Given the description of an element on the screen output the (x, y) to click on. 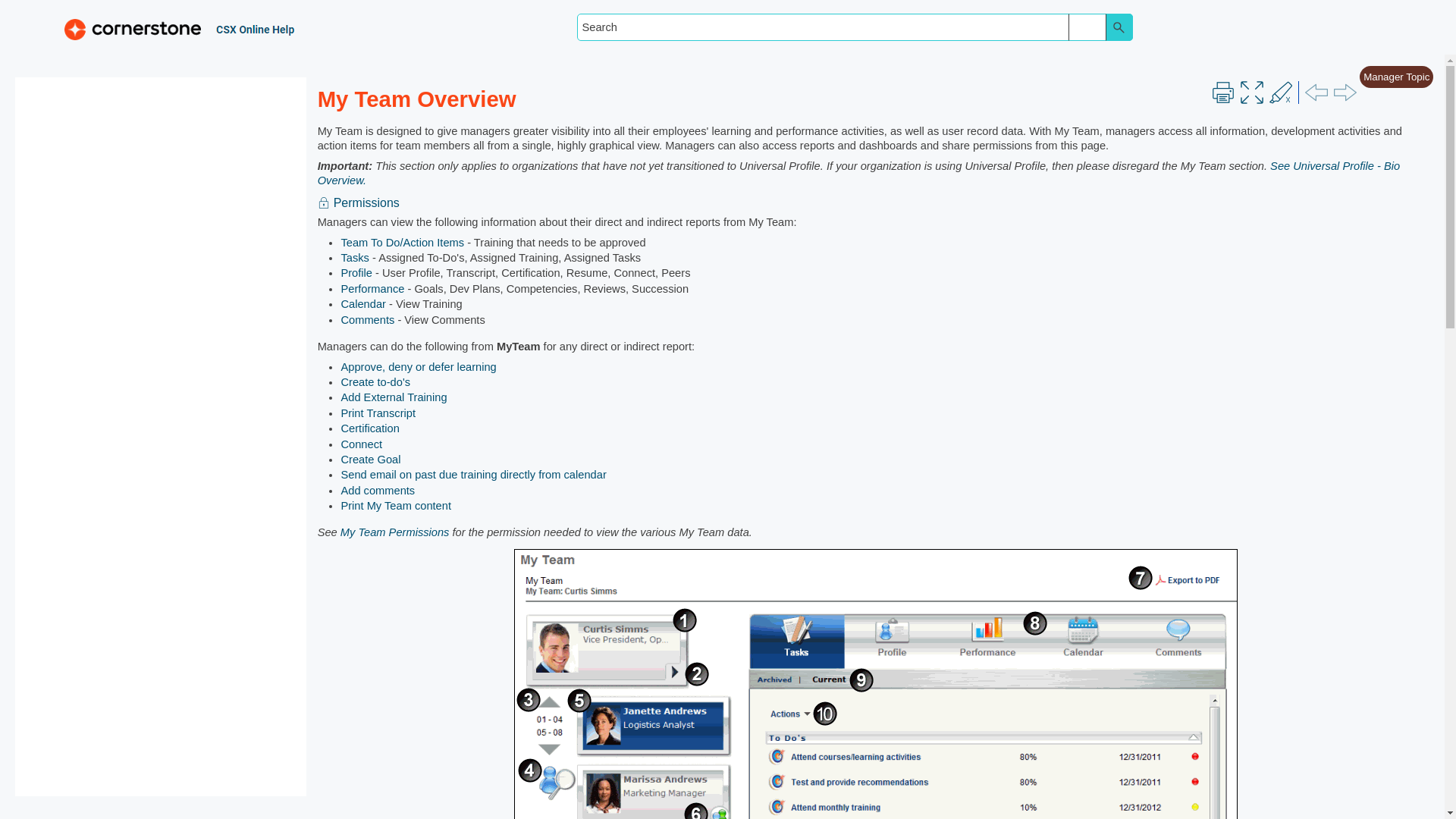
Remove Highlights (1280, 92)
Print (1222, 92)
Search (1119, 27)
Expand all (1251, 92)
Permissions (357, 201)
All Files (1087, 27)
Tasks (354, 257)
Navigate next (1344, 92)
See Universal Profile - Bio Overview. (858, 172)
Navigate previous (1315, 92)
Profile (356, 272)
Cornerstone Online Help Homepage (169, 27)
